Given the description of an element on the screen output the (x, y) to click on. 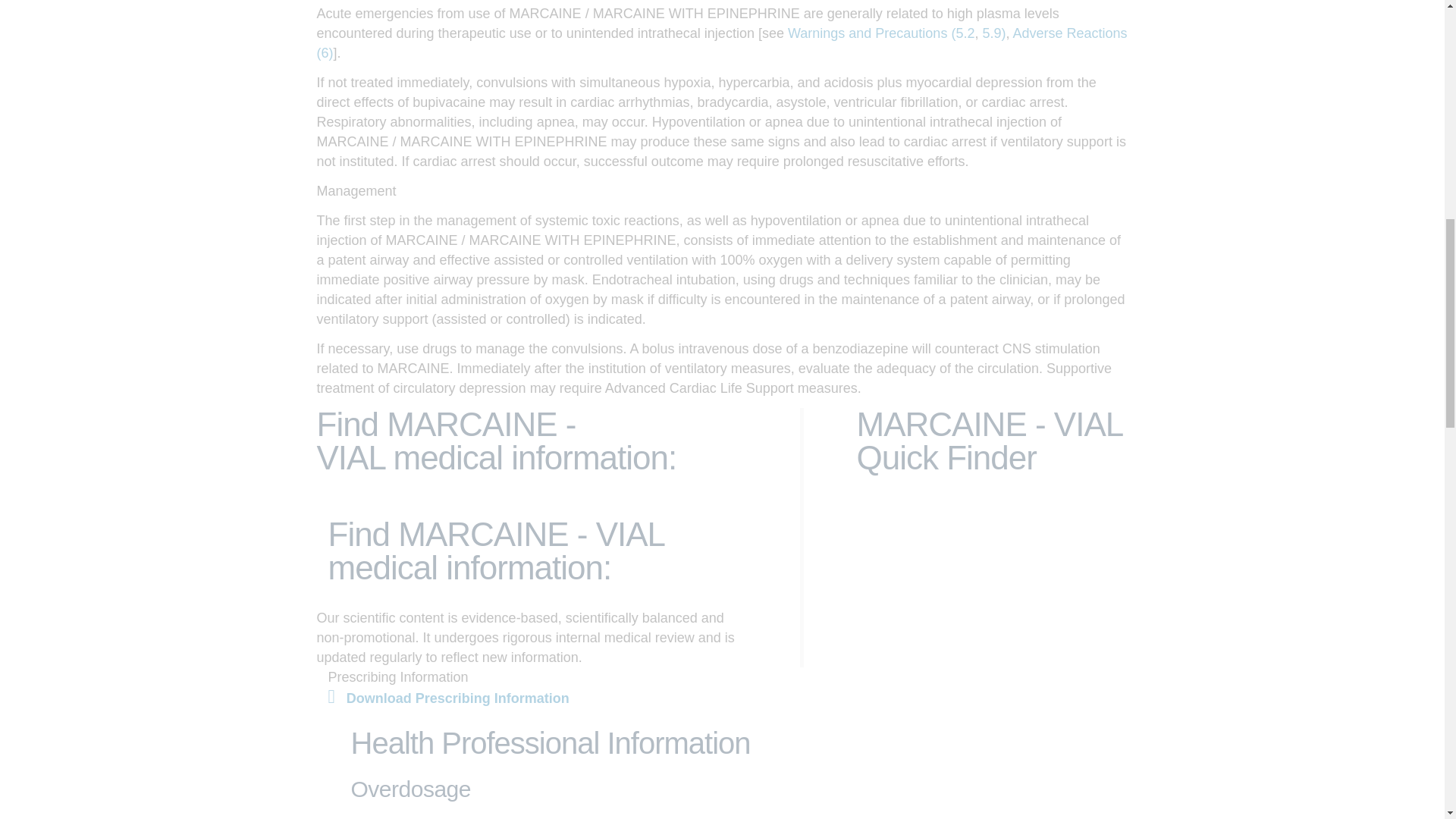
Download Prescribing Information (448, 697)
View full prescribing information (448, 697)
